Given the description of an element on the screen output the (x, y) to click on. 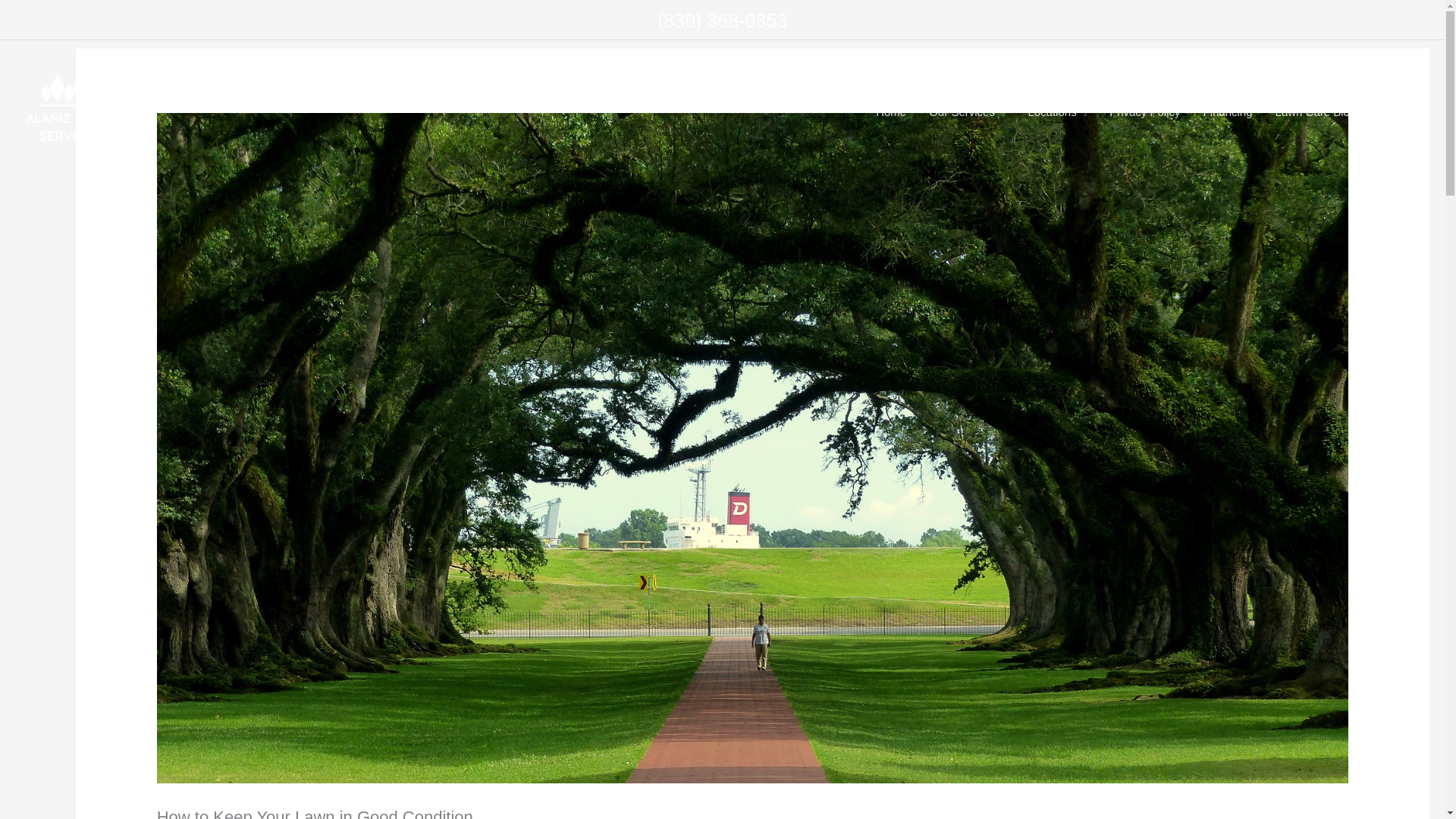
Contact (1398, 112)
Home (890, 112)
Lawn Care Blog (1315, 112)
Our Services (966, 112)
Locations (1056, 112)
Financing (1227, 112)
Privacy Policy (1144, 112)
